Given the description of an element on the screen output the (x, y) to click on. 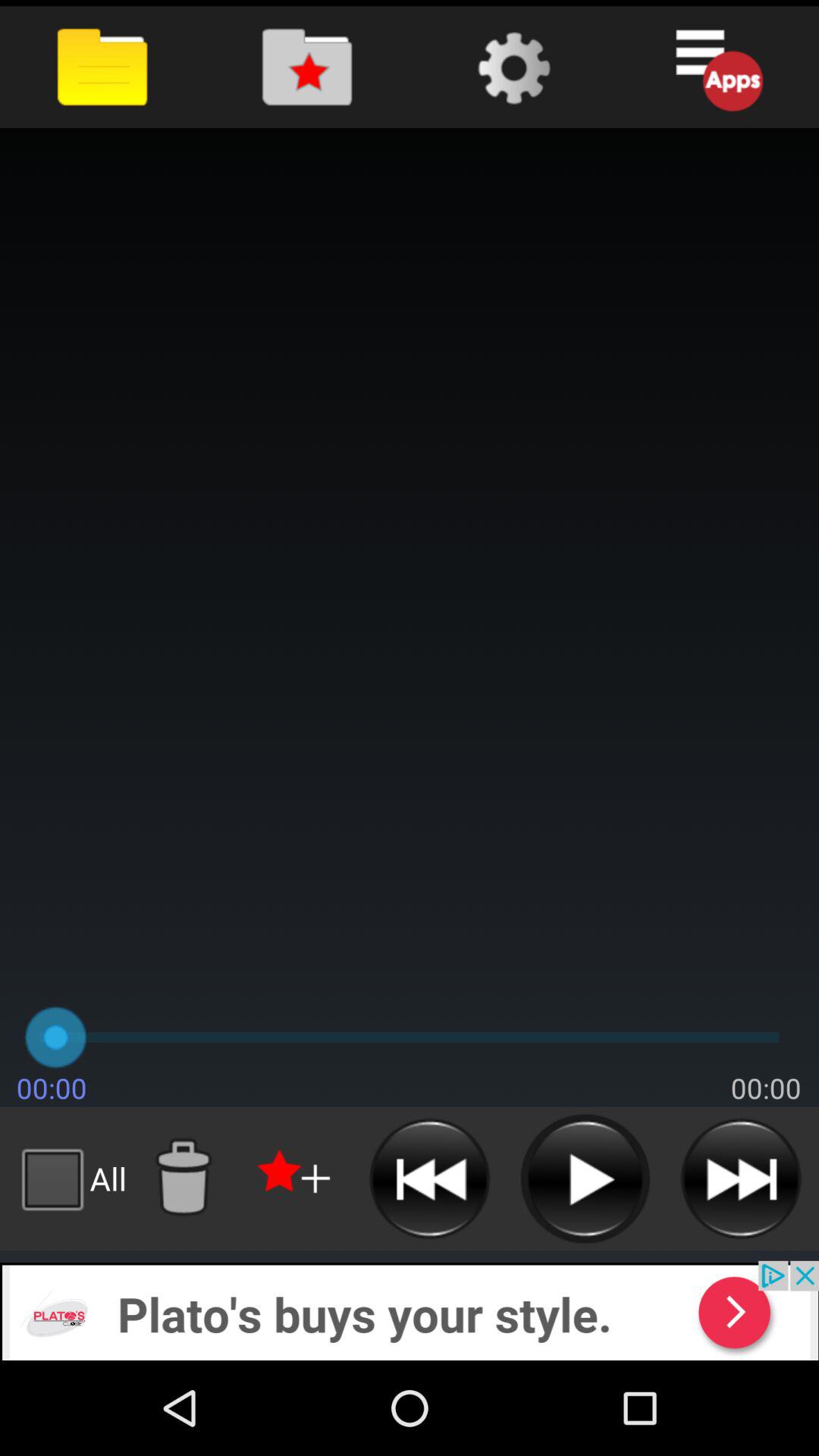
rewind (429, 1178)
